Given the description of an element on the screen output the (x, y) to click on. 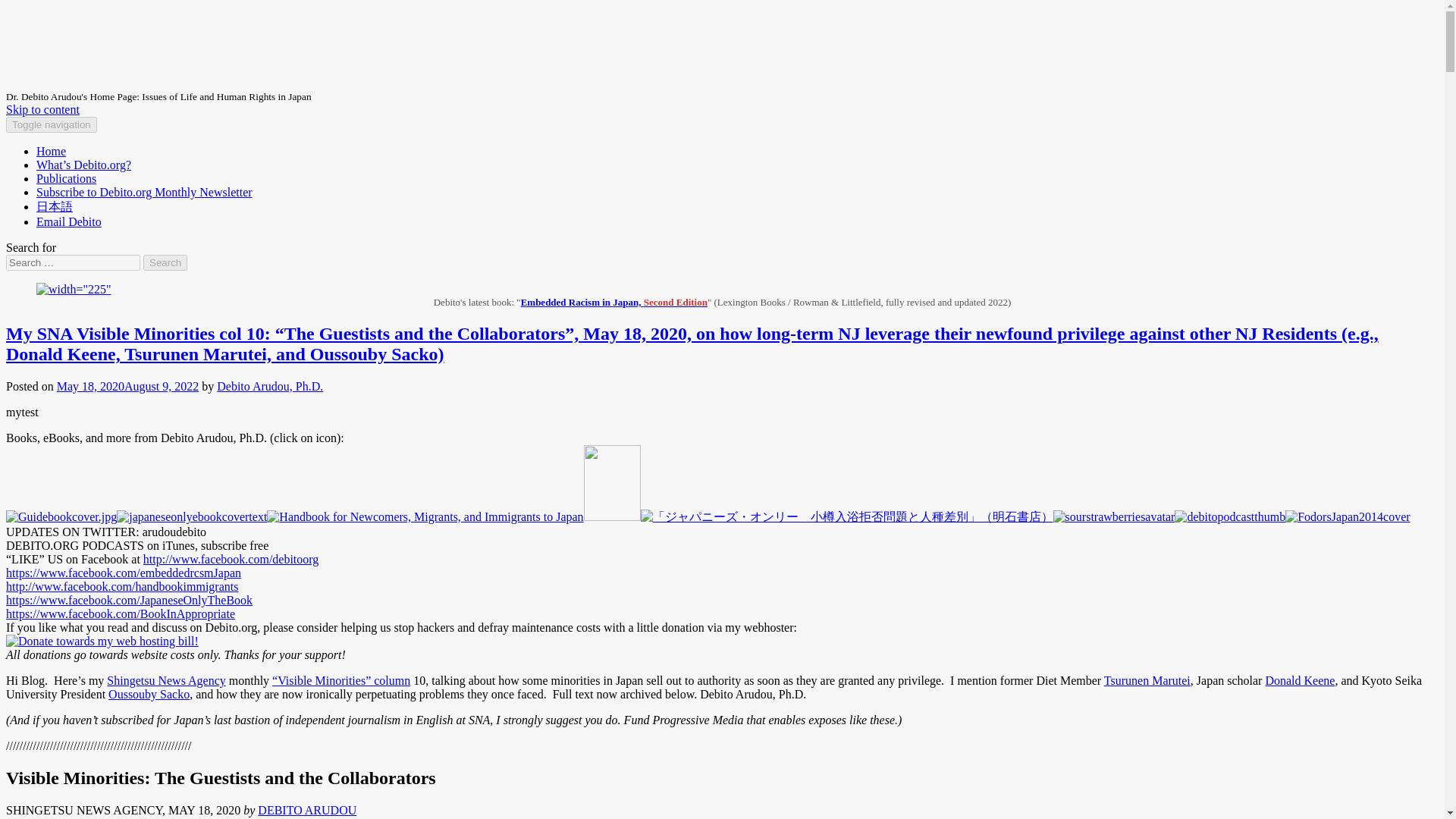
9:16 am (127, 386)
Toggle navigation (51, 124)
Search (164, 262)
debitopodcastthumb (1229, 517)
Handbook2ndEdcover.jpg (424, 517)
Subscribe to Debito.org Monthly Newsletter (143, 192)
jobookcover (846, 517)
Debito Arudou, Ph.D. (269, 386)
Publications (66, 178)
Tsurunen Marutei (1147, 680)
